Given the description of an element on the screen output the (x, y) to click on. 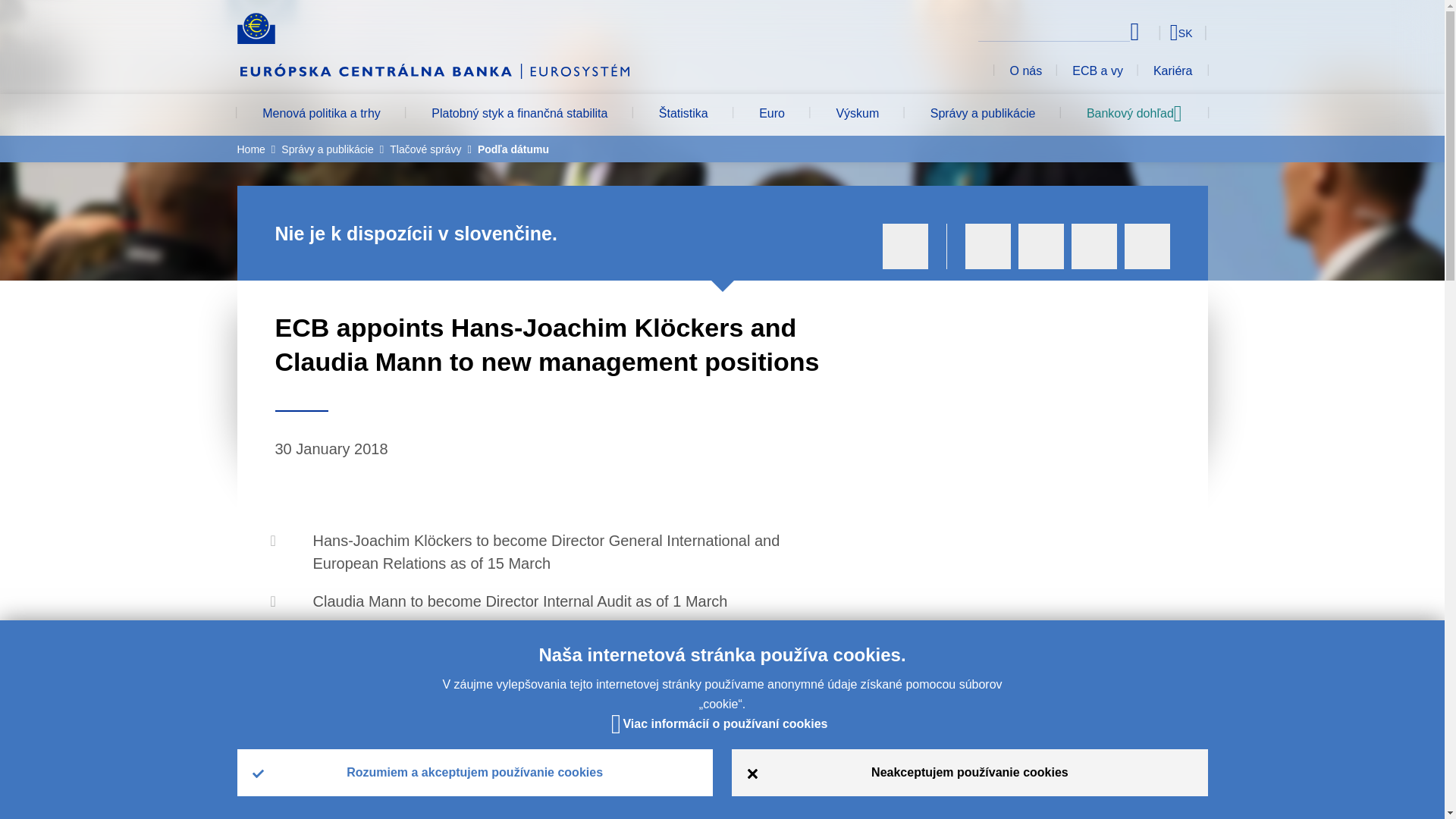
Select language (1153, 32)
